Given the description of an element on the screen output the (x, y) to click on. 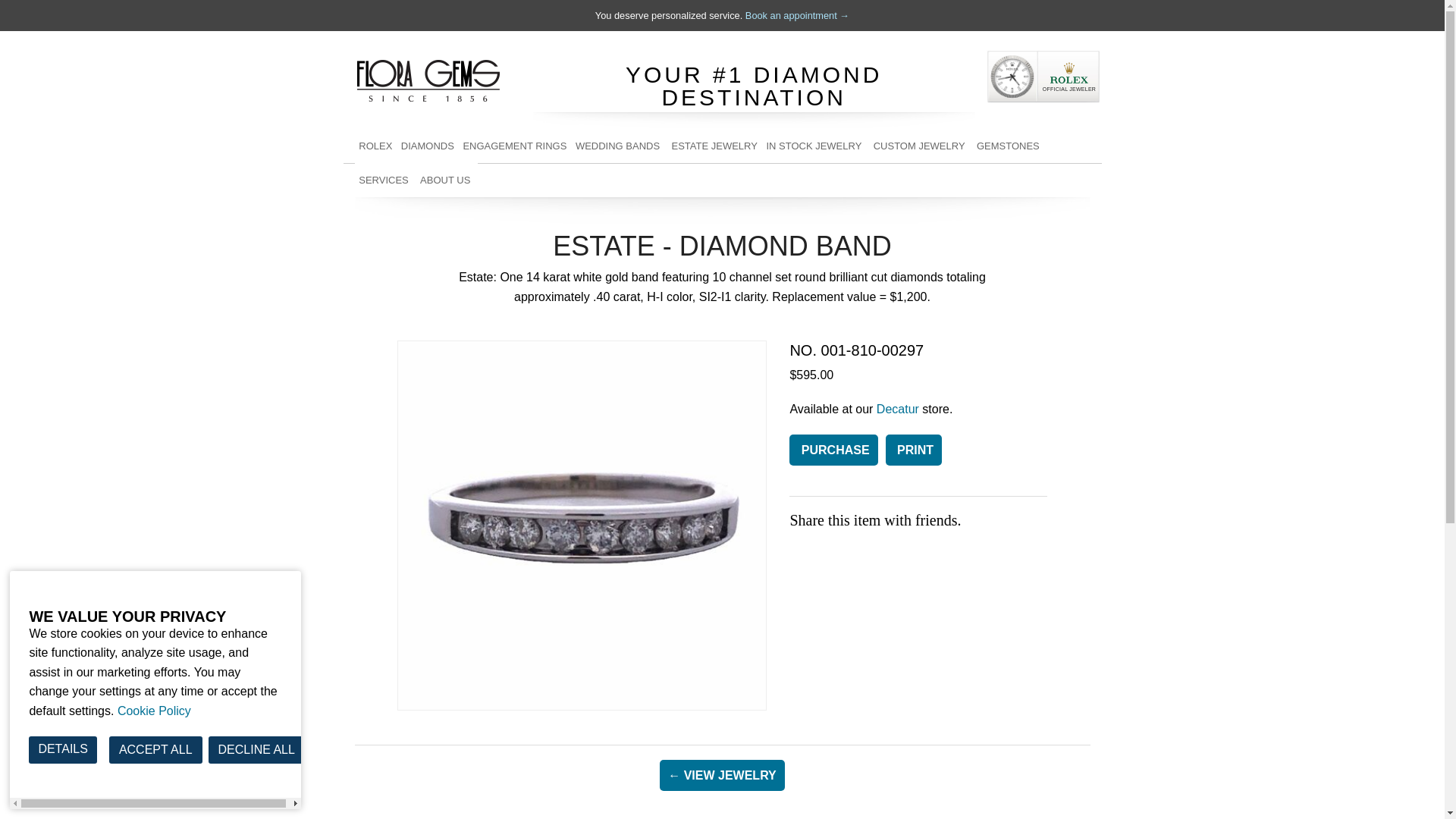
CUSTOM DESIGN (384, 350)
WOMEN'S STACKABLE BANDS (619, 179)
SERVICES (385, 179)
DIAMONDS (427, 145)
ROLEX (376, 145)
IN STOCK JEWELRY (814, 179)
ROGER DERY (1008, 213)
Flora Gems Home (428, 77)
ENGAGEMENT RINGS (515, 145)
Wedding Bands (618, 145)
